Given the description of an element on the screen output the (x, y) to click on. 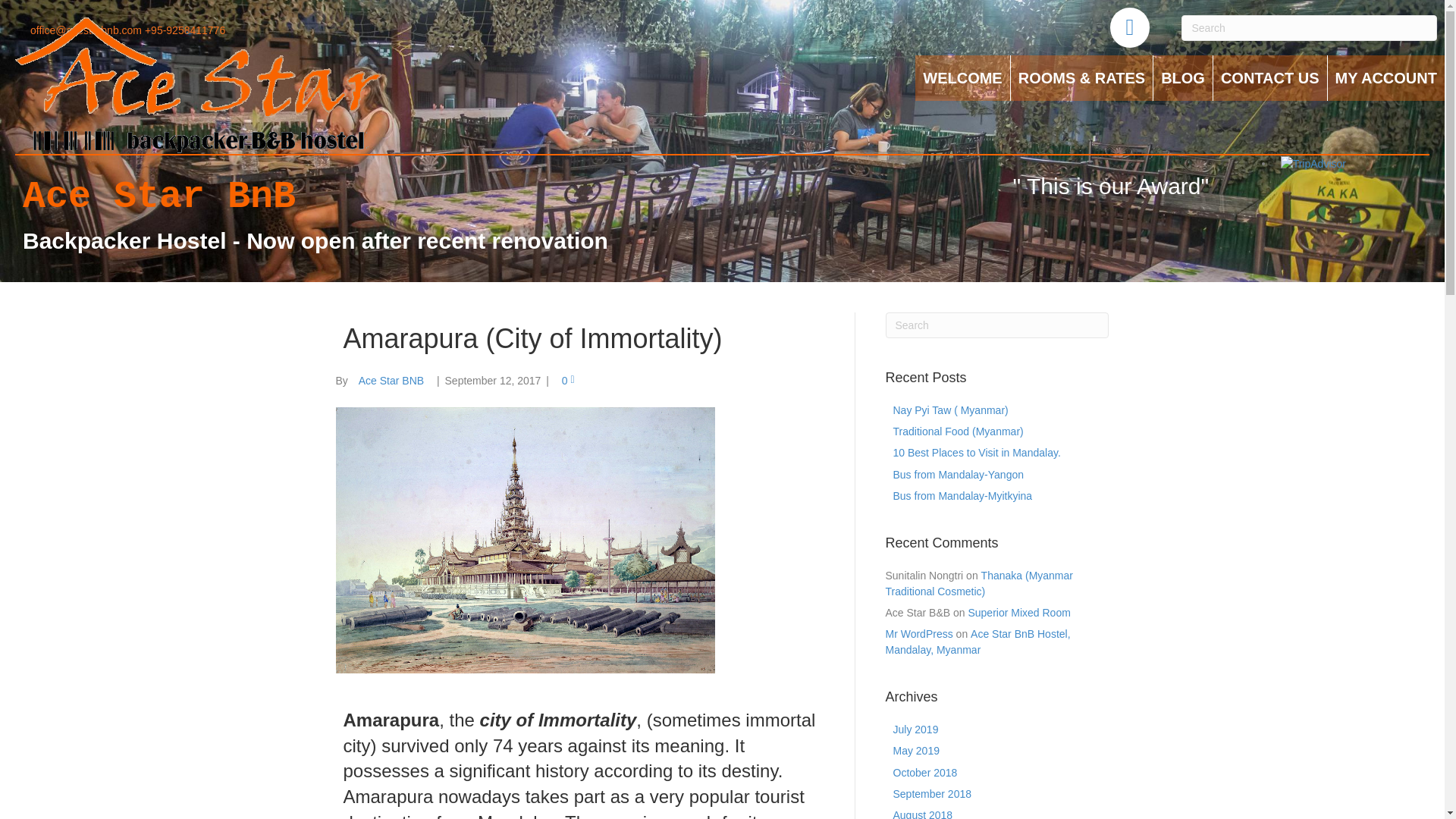
Ace Star BNB (390, 379)
Type and press Enter to search. (1308, 27)
0 (568, 379)
logo (200, 84)
BLOG (1182, 77)
Type and press Enter to search. (997, 325)
WELCOME (962, 77)
CONTACT US (1269, 77)
